Given the description of an element on the screen output the (x, y) to click on. 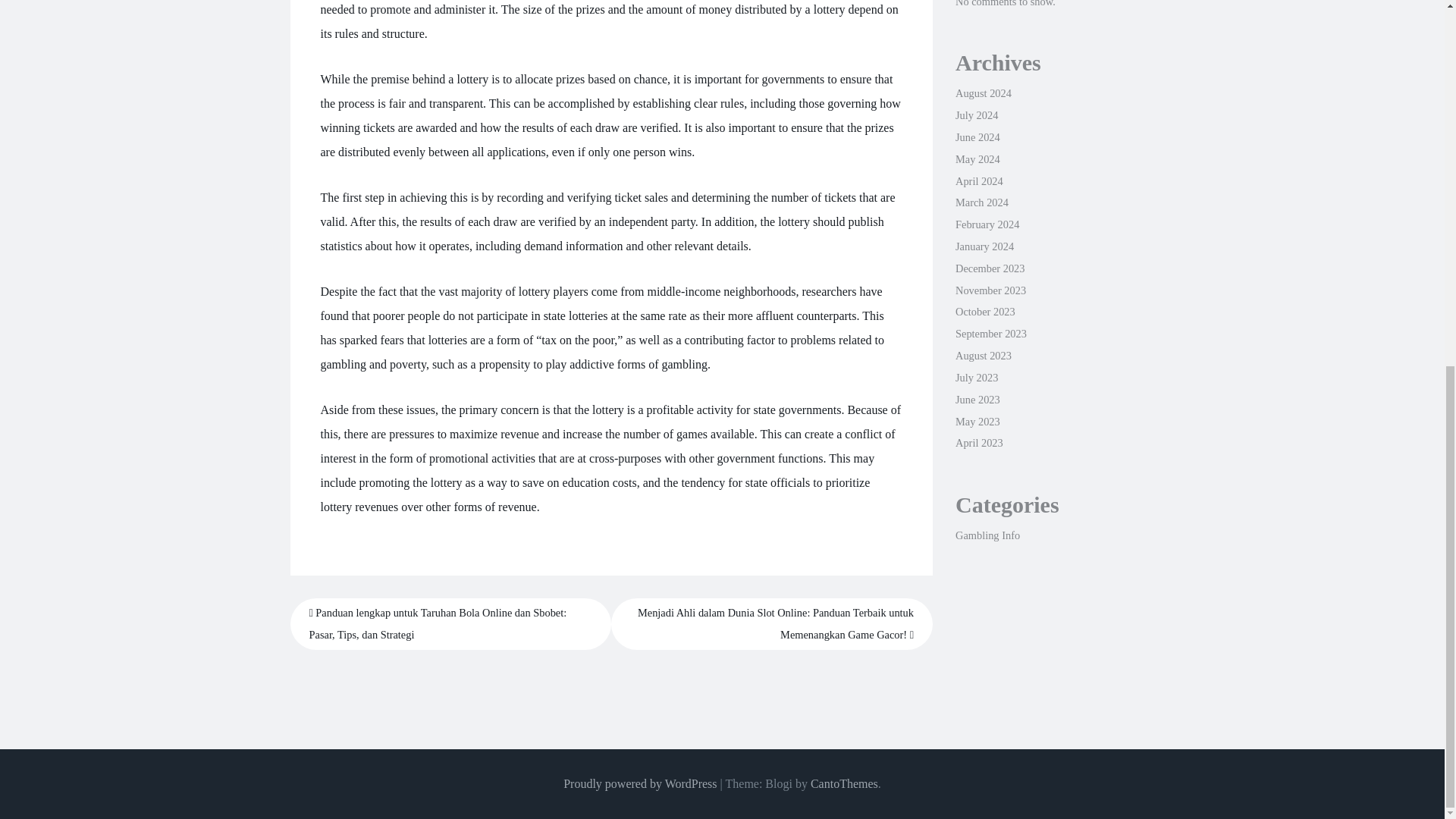
April 2023 (979, 442)
CantoThemes (843, 783)
August 2023 (983, 355)
June 2024 (977, 137)
August 2024 (983, 92)
March 2024 (982, 202)
December 2023 (990, 268)
Proudly powered by WordPress (639, 783)
June 2023 (977, 399)
